Given the description of an element on the screen output the (x, y) to click on. 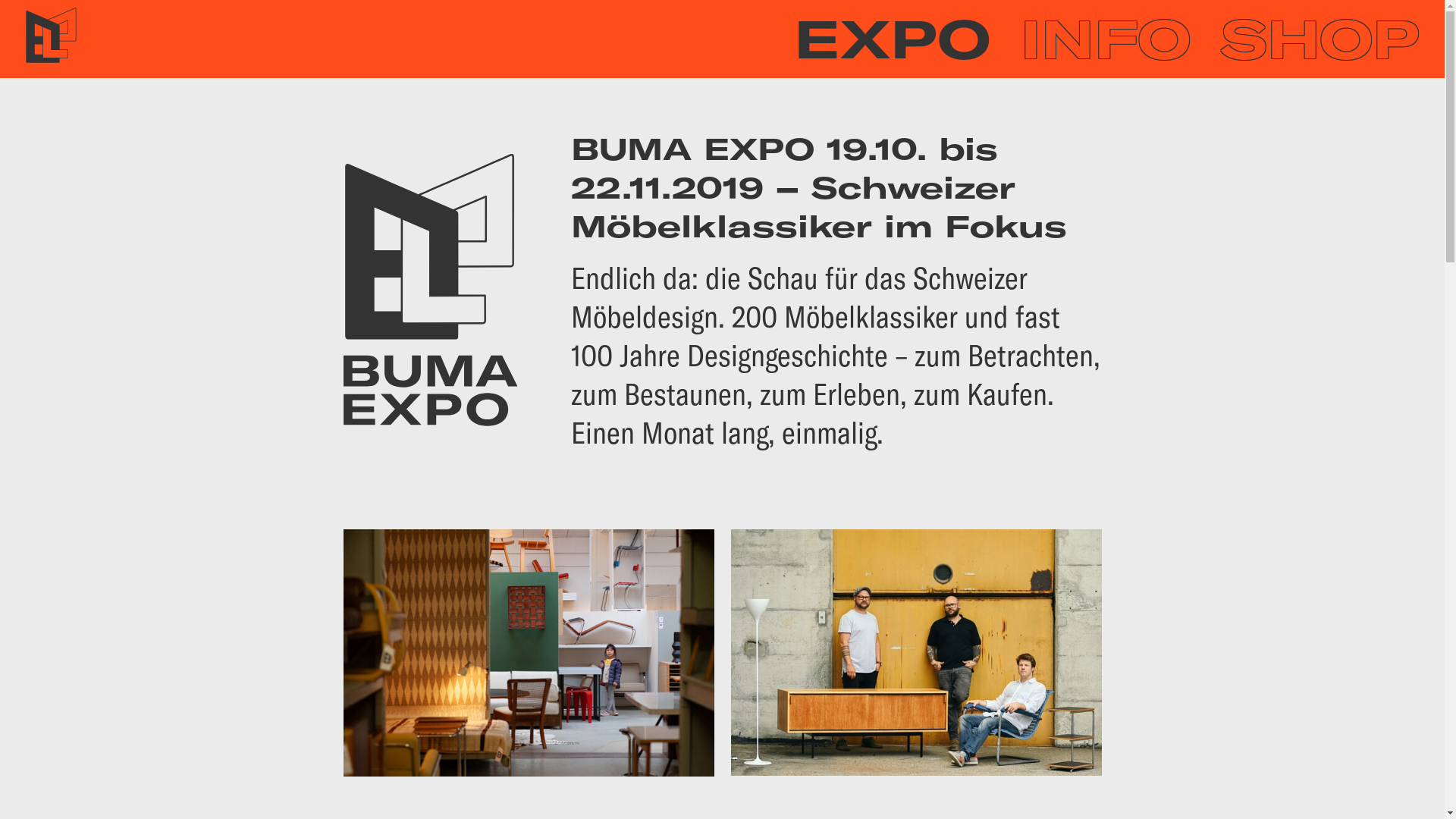
SHOP Element type: text (1319, 38)
EXPO Element type: text (891, 38)
INFO Element type: text (1105, 38)
